Given the description of an element on the screen output the (x, y) to click on. 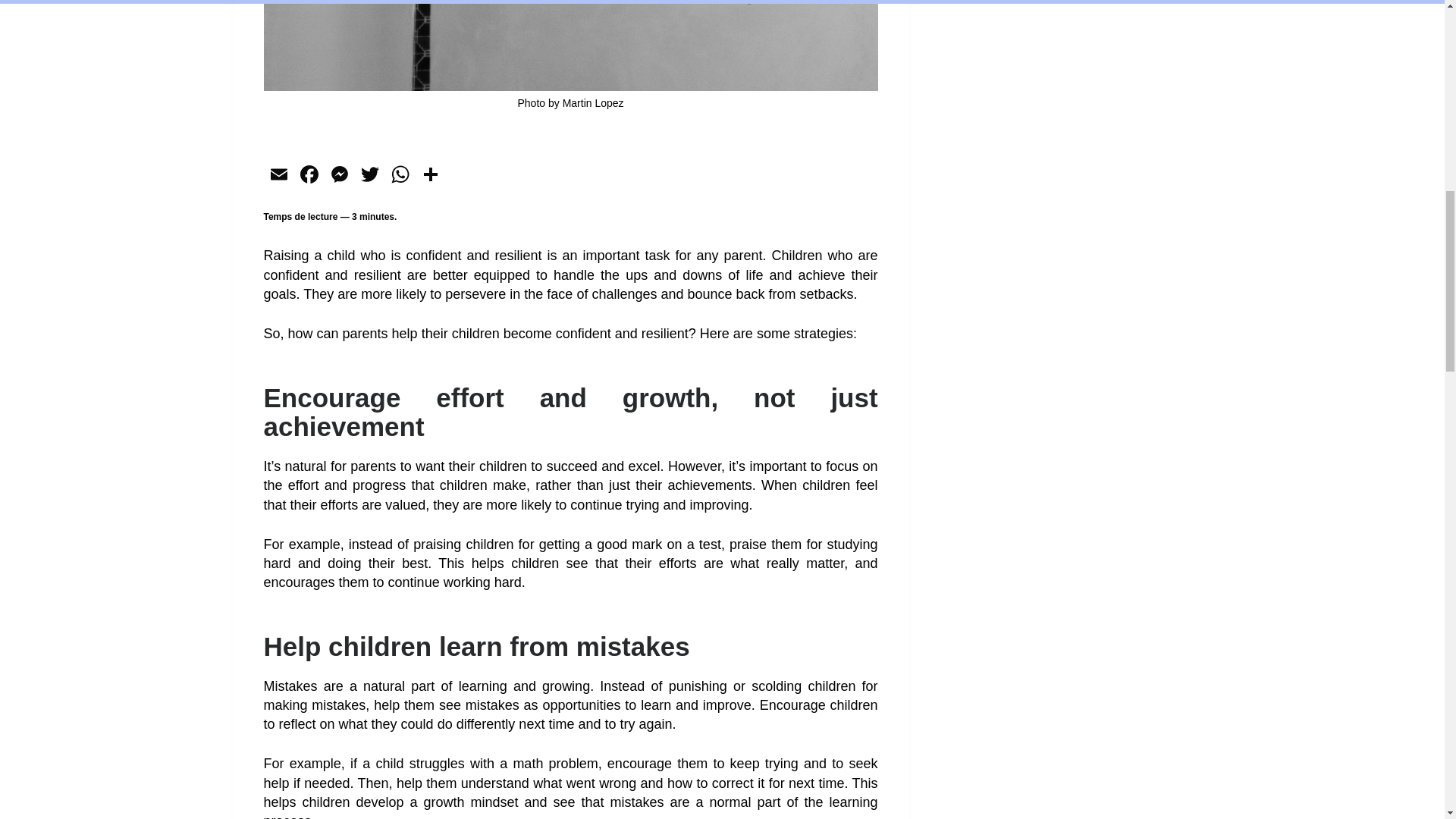
Twitter (370, 176)
Share (429, 176)
WhatsApp (399, 176)
Email (278, 176)
Email (278, 176)
Messenger (339, 176)
WhatsApp (399, 176)
Facebook (309, 176)
Facebook (309, 176)
Messenger (339, 176)
Twitter (370, 176)
